Given the description of an element on the screen output the (x, y) to click on. 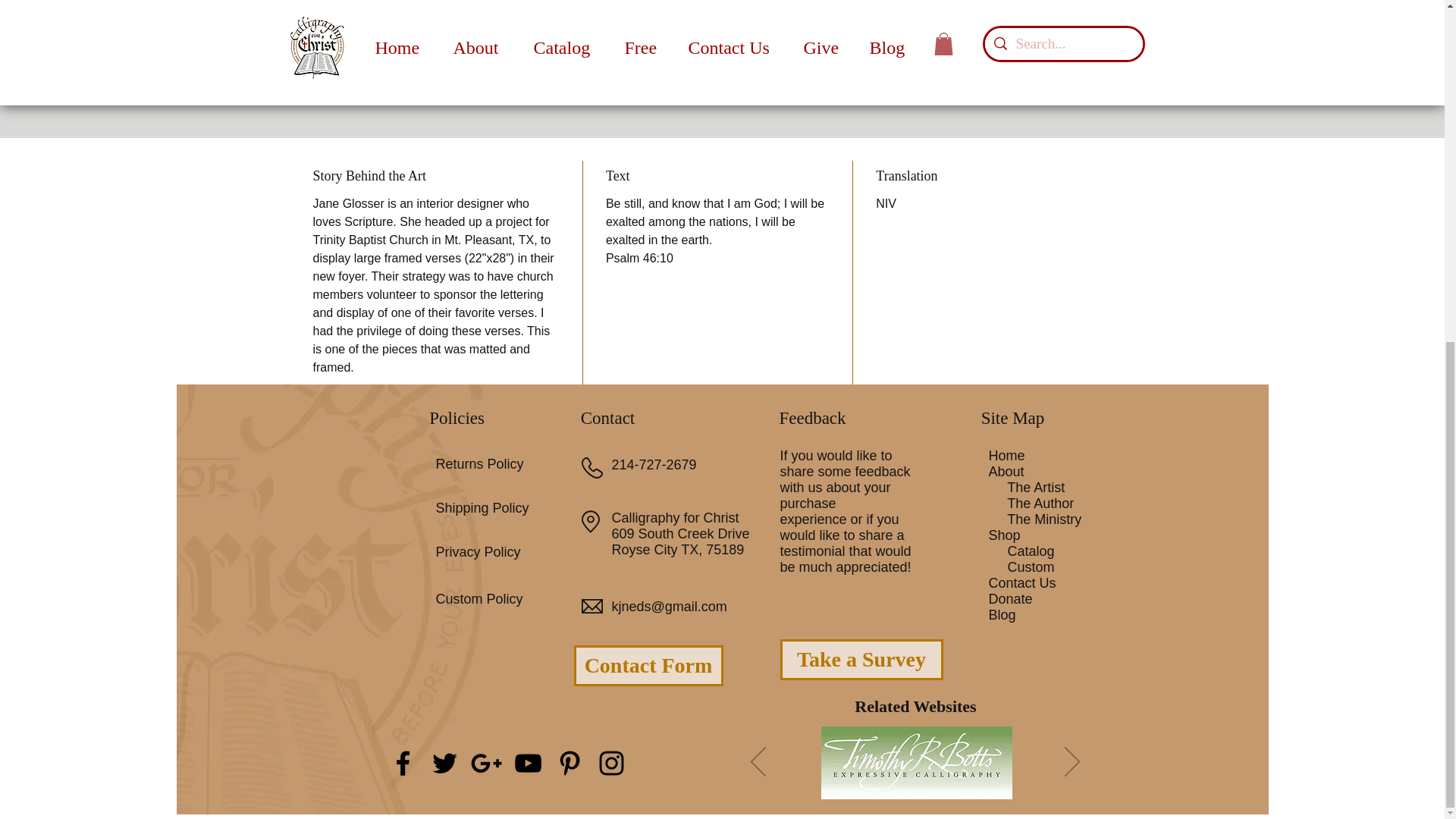
About (1006, 471)
Contact Us (1022, 582)
Shop (1004, 534)
Contact (607, 417)
The Artist (1035, 487)
Take a Survey (860, 659)
Home (1006, 455)
The Ministry (1044, 519)
Custom (1030, 566)
Contact Form (647, 665)
